Given the description of an element on the screen output the (x, y) to click on. 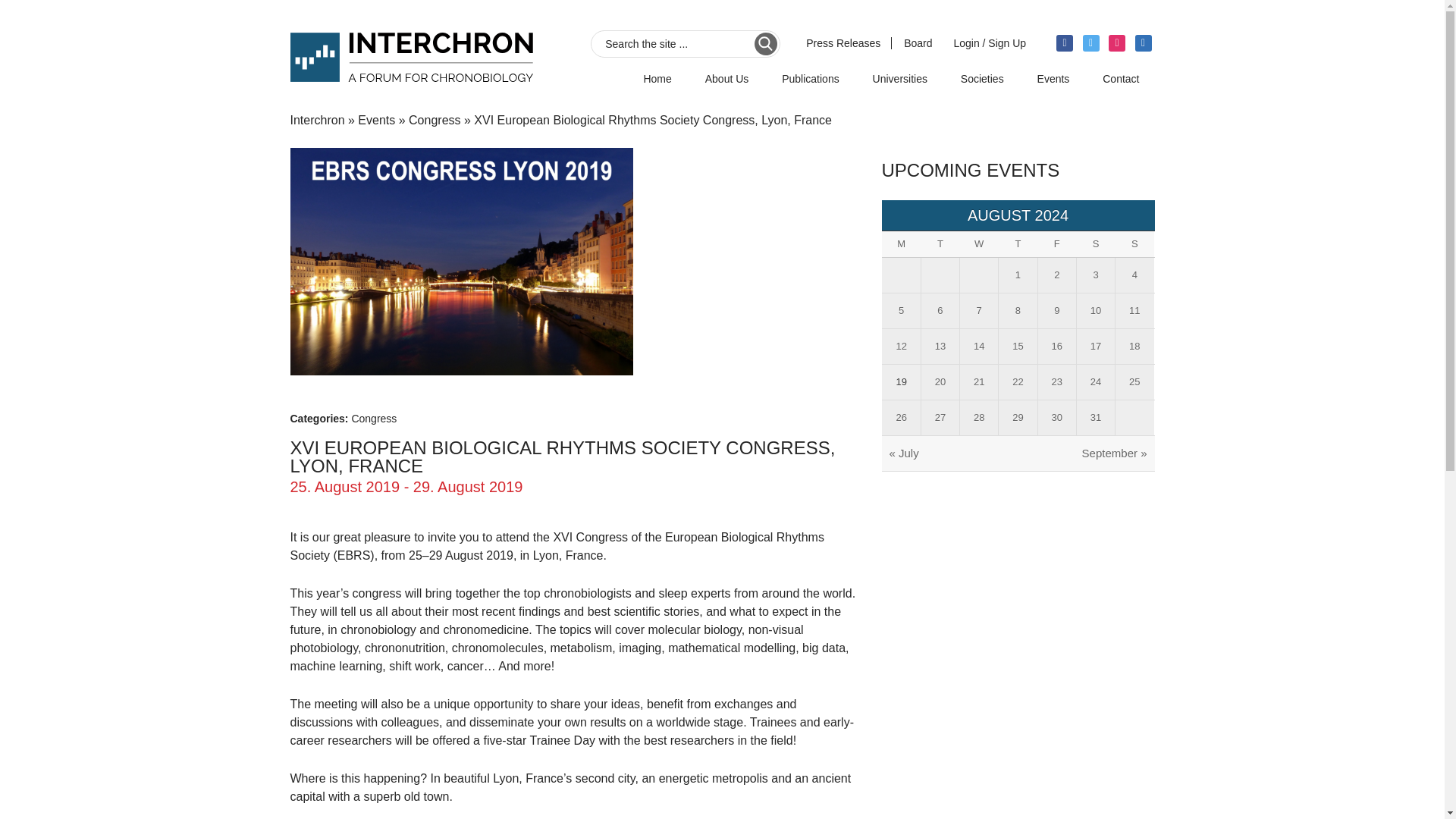
Events (376, 119)
Congress (434, 119)
Publications (810, 84)
Interchron (316, 119)
instagram (1116, 42)
Twitter (1091, 42)
About Us (727, 84)
